Given the description of an element on the screen output the (x, y) to click on. 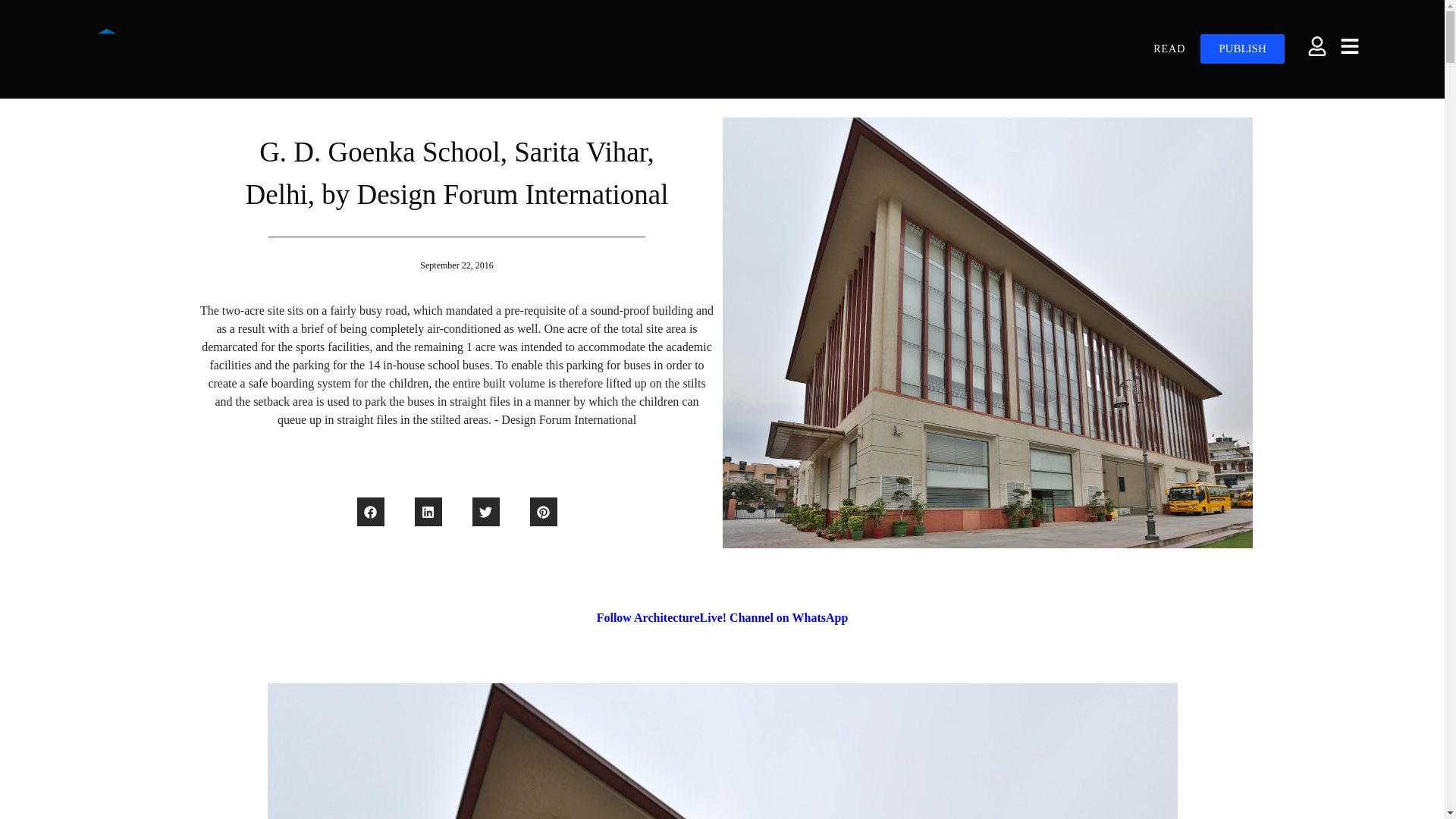
September 22, 2016 (456, 264)
Follow ArchitectureLive! Channel on WhatsApp (722, 617)
READ (1169, 49)
PUBLISH (1241, 48)
